Given the description of an element on the screen output the (x, y) to click on. 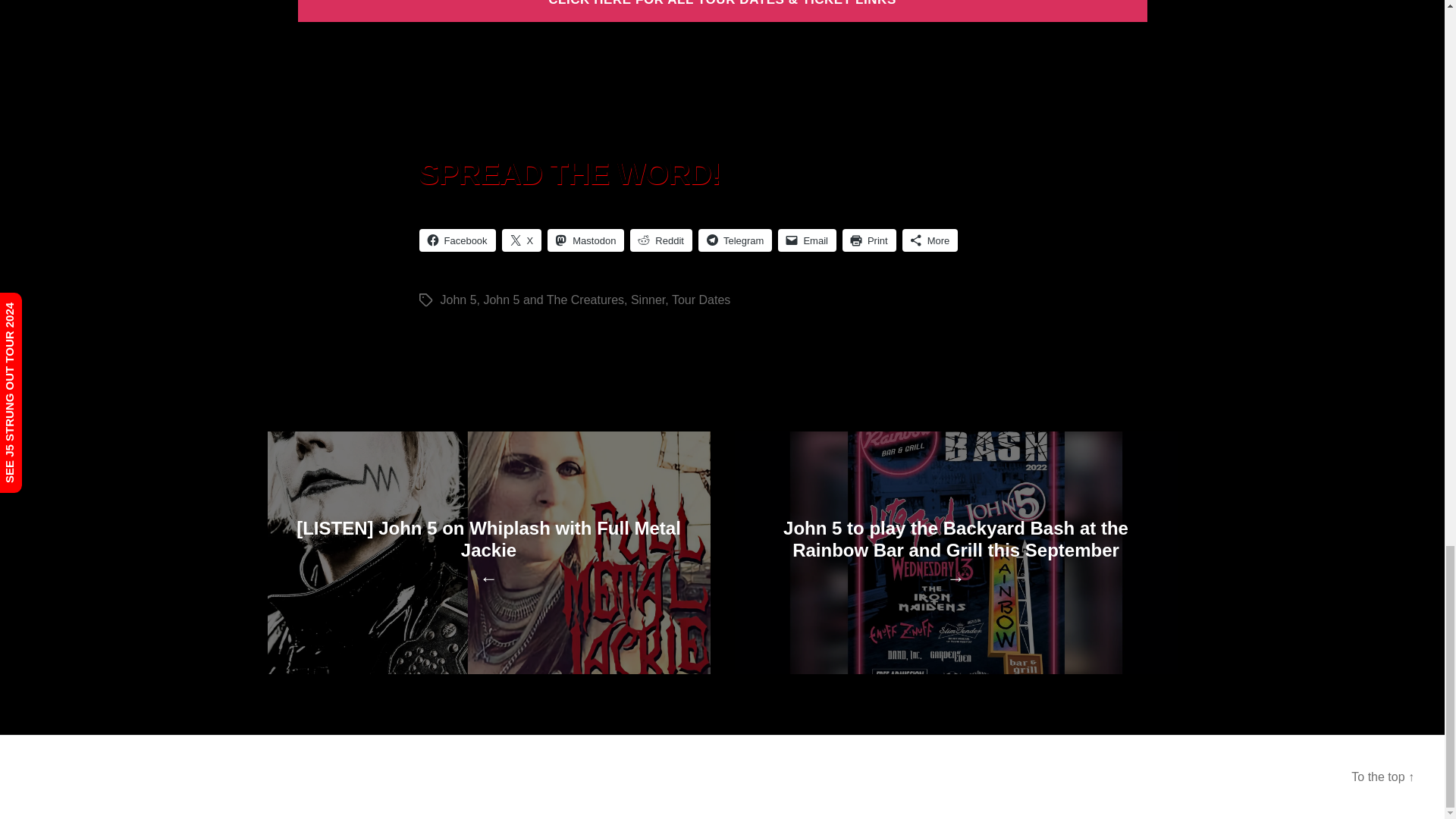
Email (806, 240)
Mastodon (585, 240)
Facebook (457, 240)
Print (869, 240)
X (521, 240)
Telegram (734, 240)
More (930, 240)
Reddit (661, 240)
